Given the description of an element on the screen output the (x, y) to click on. 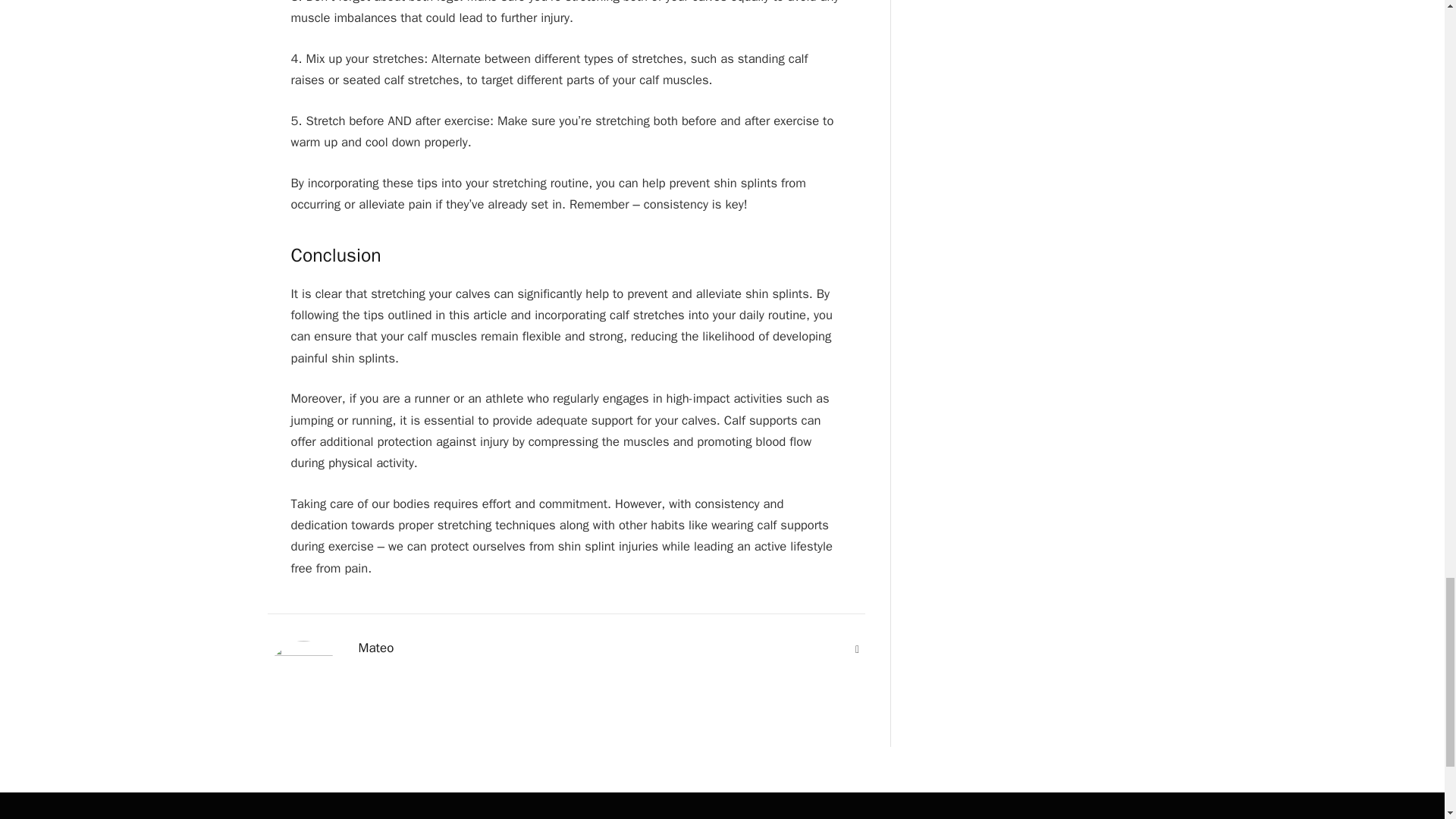
Website (856, 649)
Website (856, 649)
Mateo (375, 648)
Posts by Mateo (375, 648)
